Given the description of an element on the screen output the (x, y) to click on. 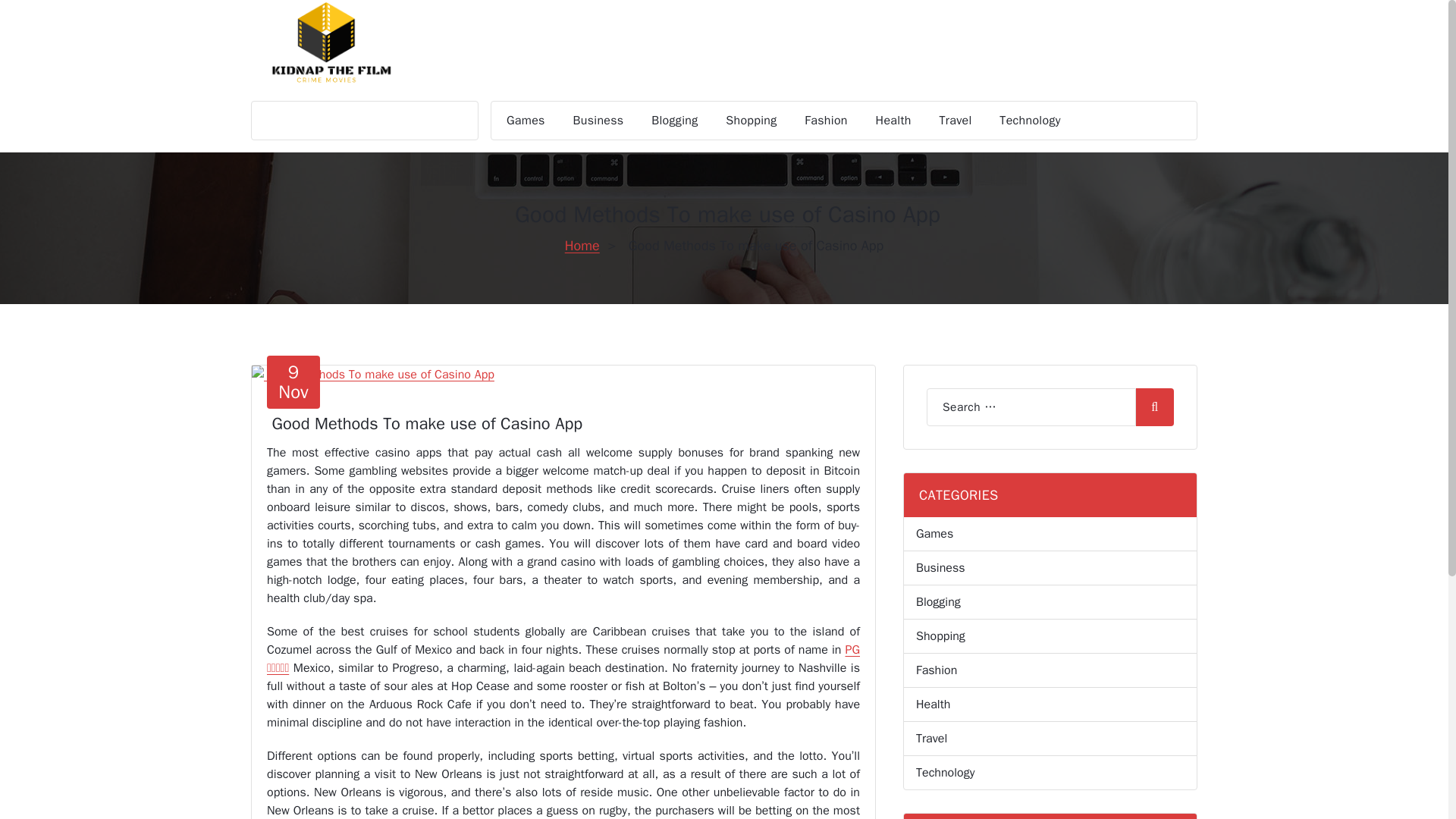
Technology (1030, 120)
Travel (955, 120)
Travel (1050, 738)
Business (598, 120)
Shopping (751, 120)
Blogging (674, 120)
Fashion (1050, 670)
Travel (293, 381)
Technology (955, 120)
Fashion (1030, 120)
Health (826, 120)
Games (1050, 704)
Blogging (525, 120)
Business (674, 120)
